Given the description of an element on the screen output the (x, y) to click on. 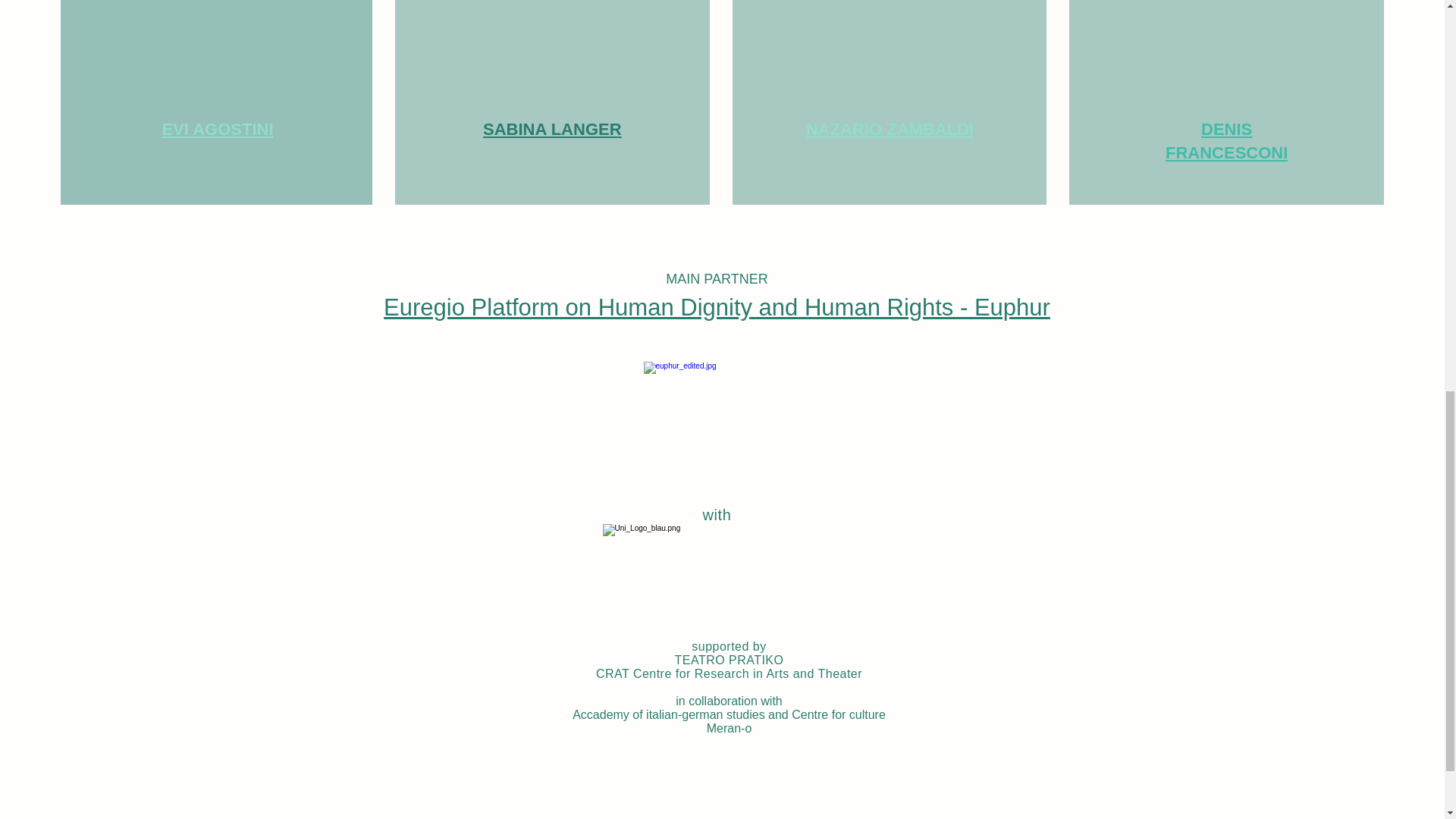
NAZARIO ZAMBALDI (890, 128)
DENIS FRANCESCONI (1226, 140)
EVI AGOSTINI (217, 128)
Euregio Platform on Human Dignity and Human Rights - Euphur (716, 307)
SABINA LANGER (552, 128)
